Given the description of an element on the screen output the (x, y) to click on. 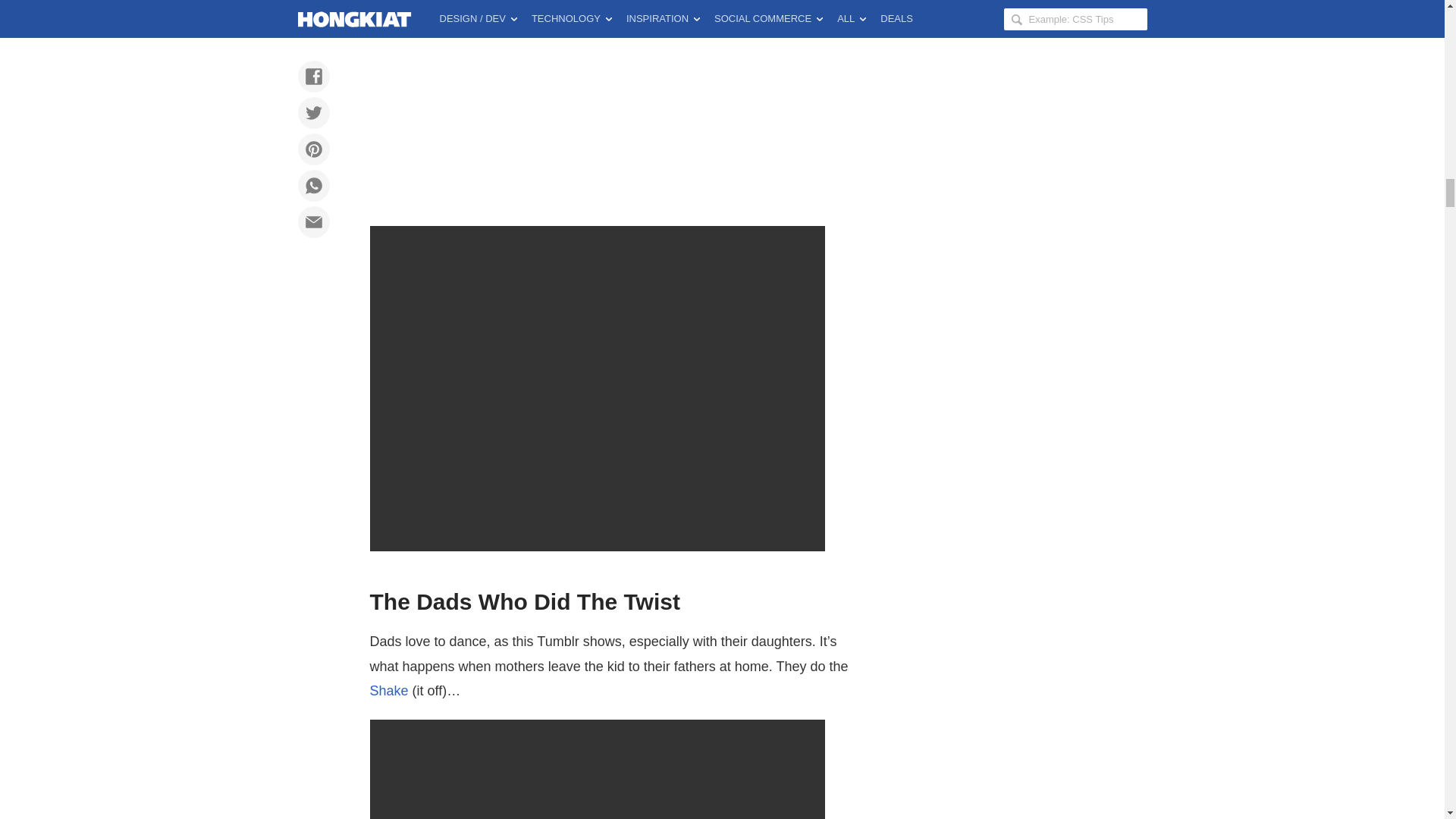
Shake (389, 690)
